Given the description of an element on the screen output the (x, y) to click on. 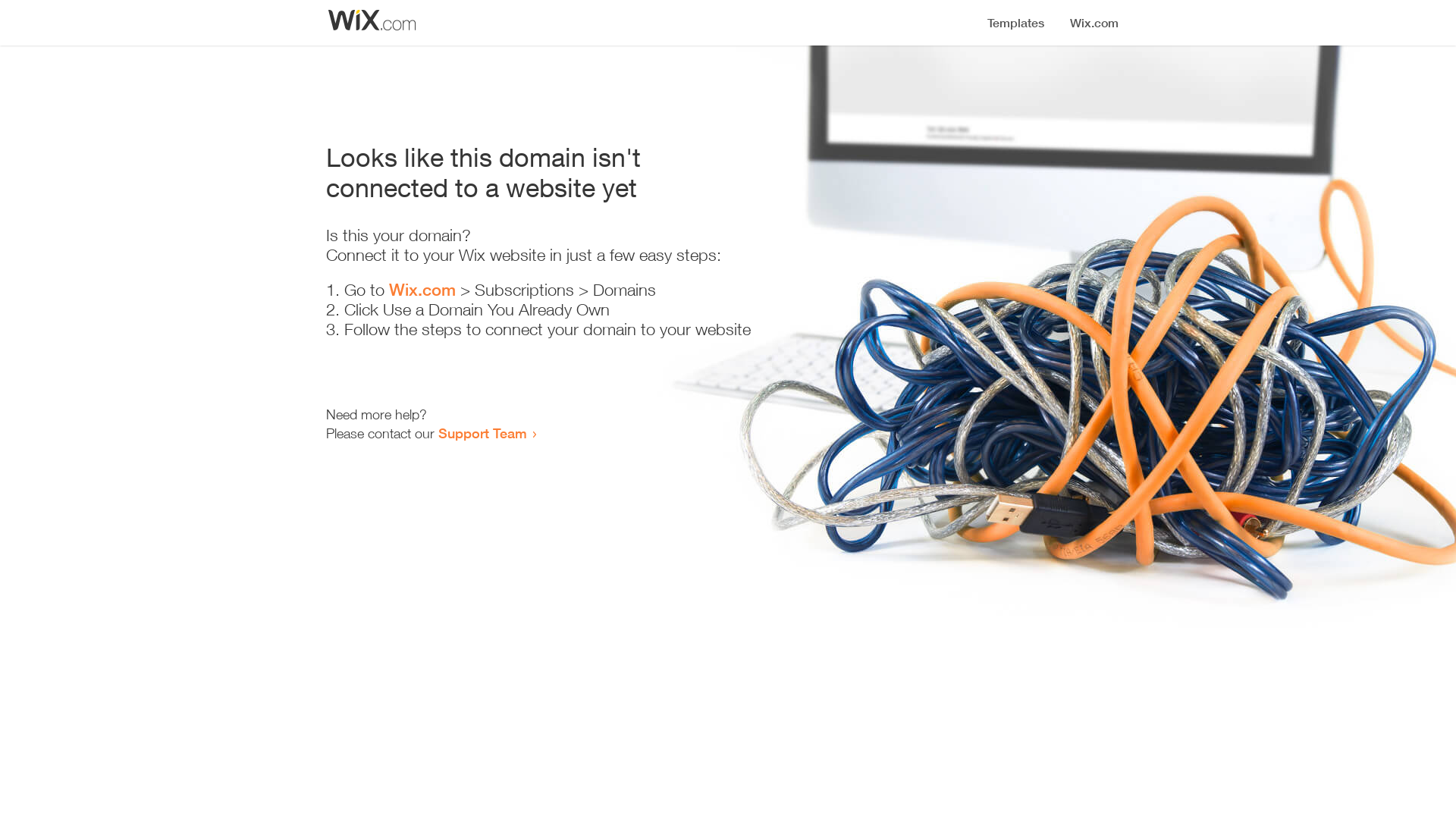
Wix.com Element type: text (422, 289)
Support Team Element type: text (482, 432)
